Given the description of an element on the screen output the (x, y) to click on. 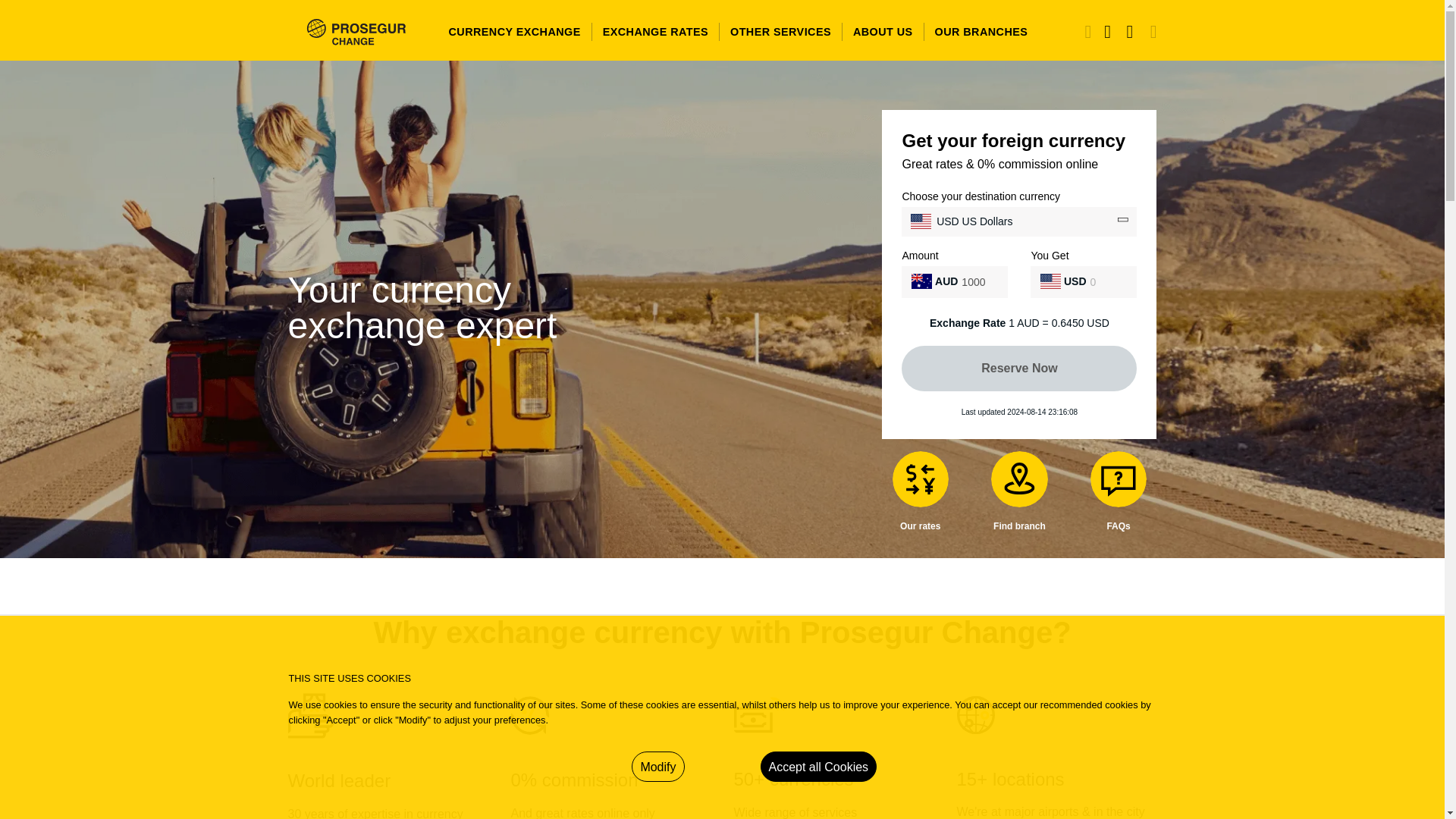
ABOUT US (882, 31)
1000 (978, 282)
USD US Dollars (921, 221)
Modify (657, 766)
OTHER SERVICES (780, 31)
OUR BRANCHES (977, 31)
CURRENCY EXCHANGE (514, 31)
EXCHANGE RATES (655, 31)
Accept all Cookies (818, 766)
